Given the description of an element on the screen output the (x, y) to click on. 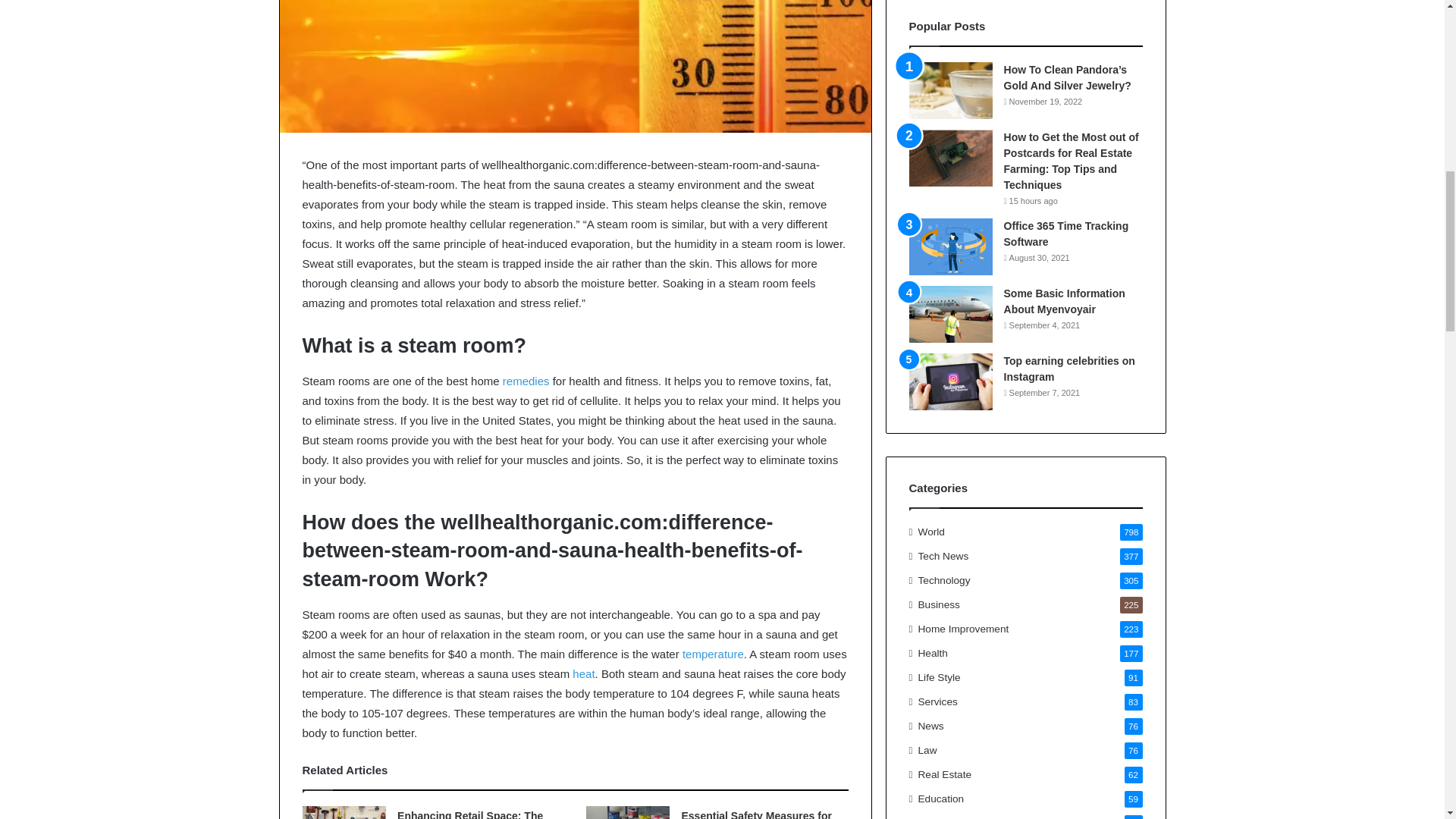
remedies (526, 380)
heat (583, 673)
temperature (713, 653)
